Given the description of an element on the screen output the (x, y) to click on. 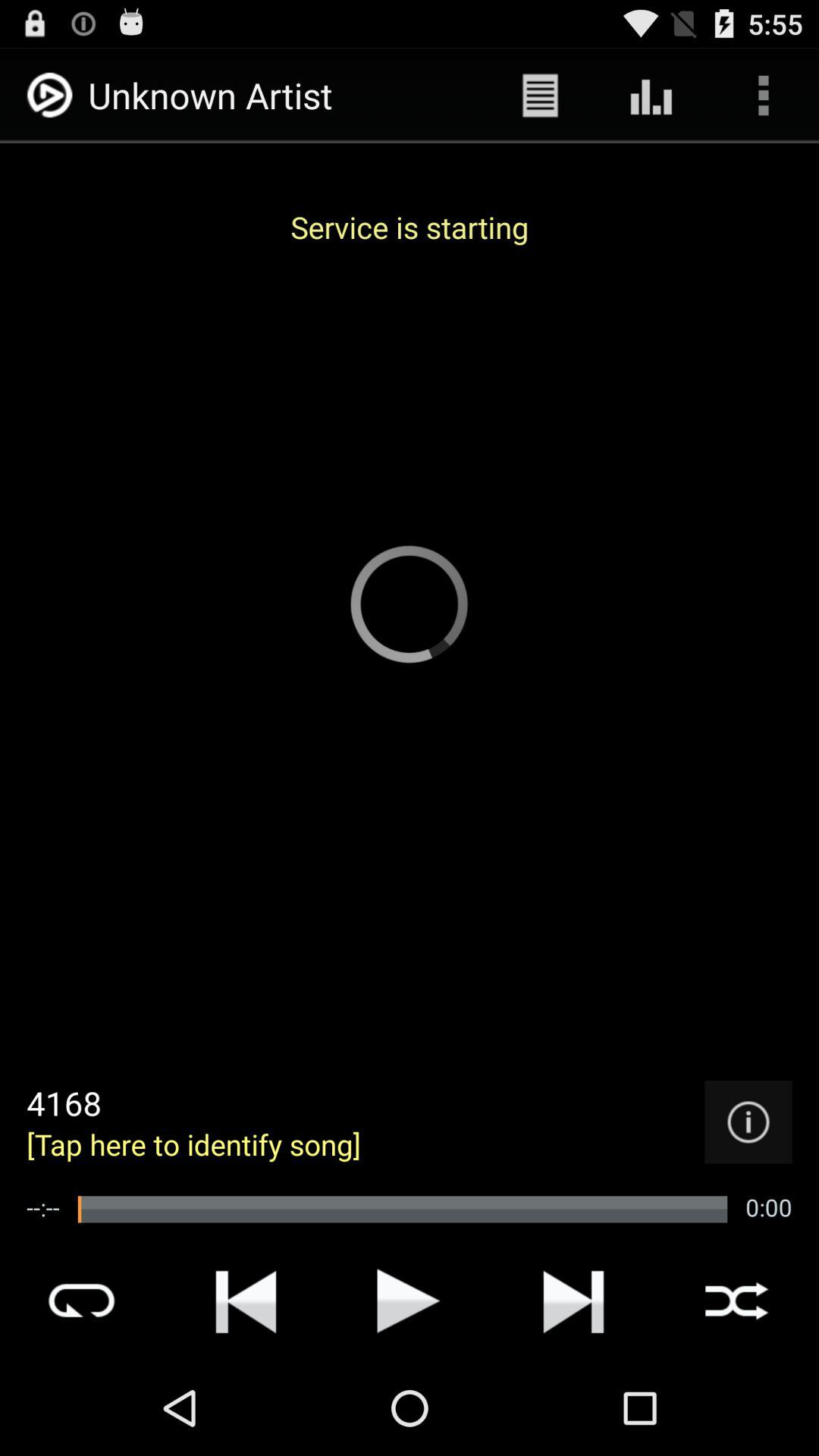
play song (409, 1300)
